Given the description of an element on the screen output the (x, y) to click on. 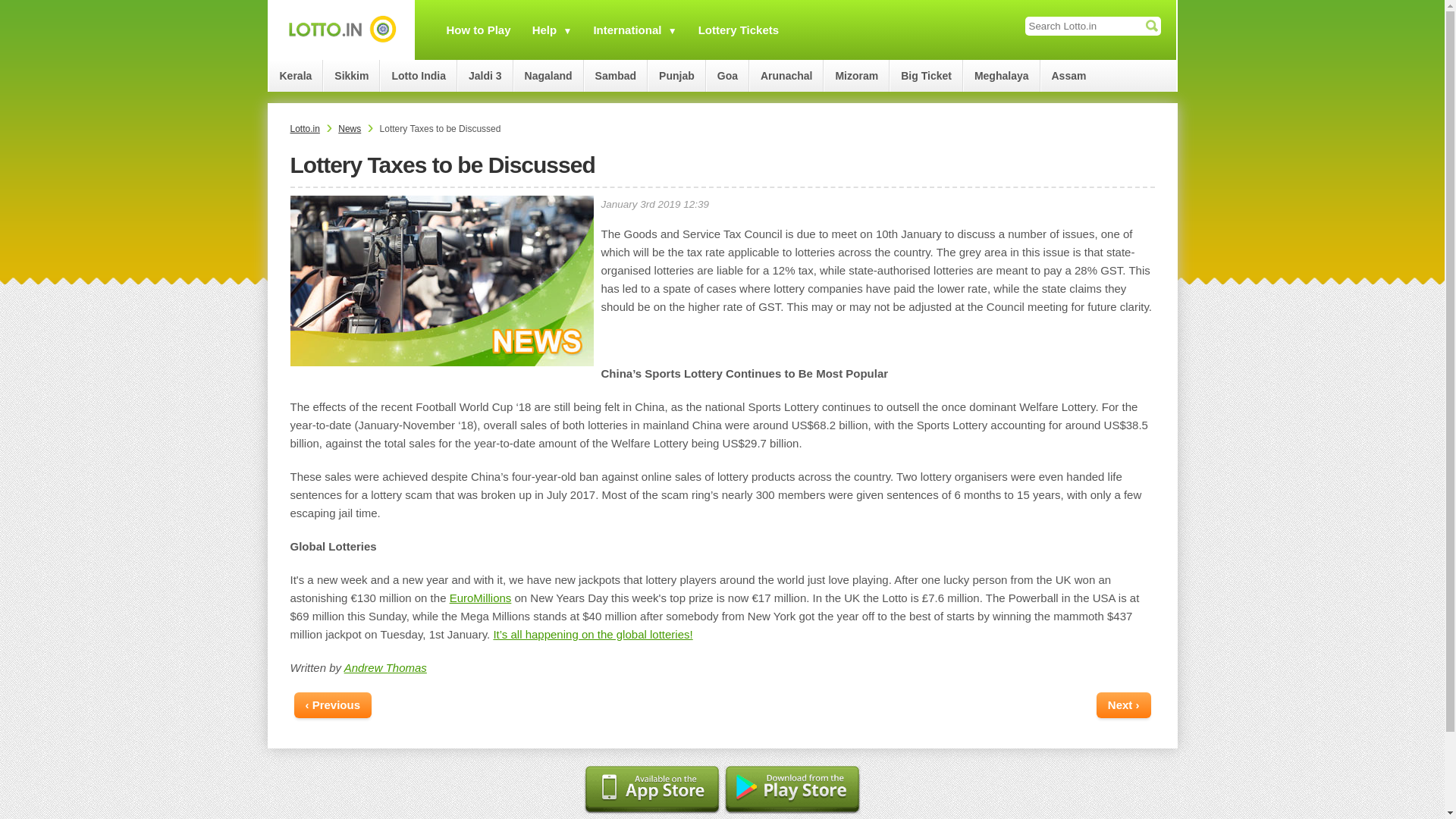
Kerala (295, 75)
Lotto India (418, 75)
Submit (1150, 25)
How to Play (478, 29)
How to play online from India (478, 29)
Sikkim (351, 75)
Submit (1150, 25)
Jaldi 3 (485, 75)
International (626, 29)
Kerala Lotteries (295, 75)
Nagaland (548, 75)
Lottery Tickets (738, 29)
How to play online (626, 29)
Lottery Tickets (738, 29)
India Lottery Results (340, 29)
